Given the description of an element on the screen output the (x, y) to click on. 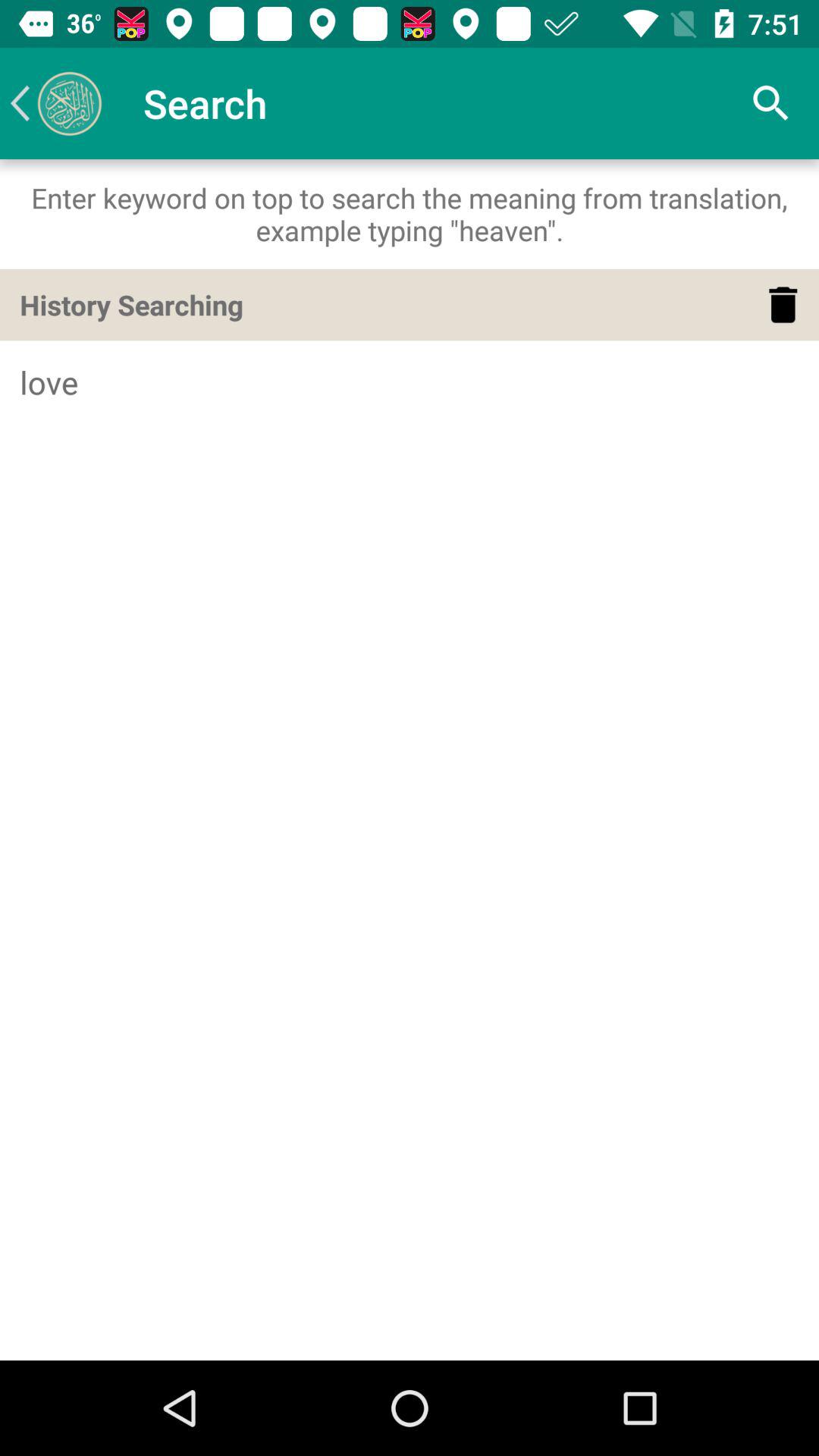
delete history searching (783, 304)
